Given the description of an element on the screen output the (x, y) to click on. 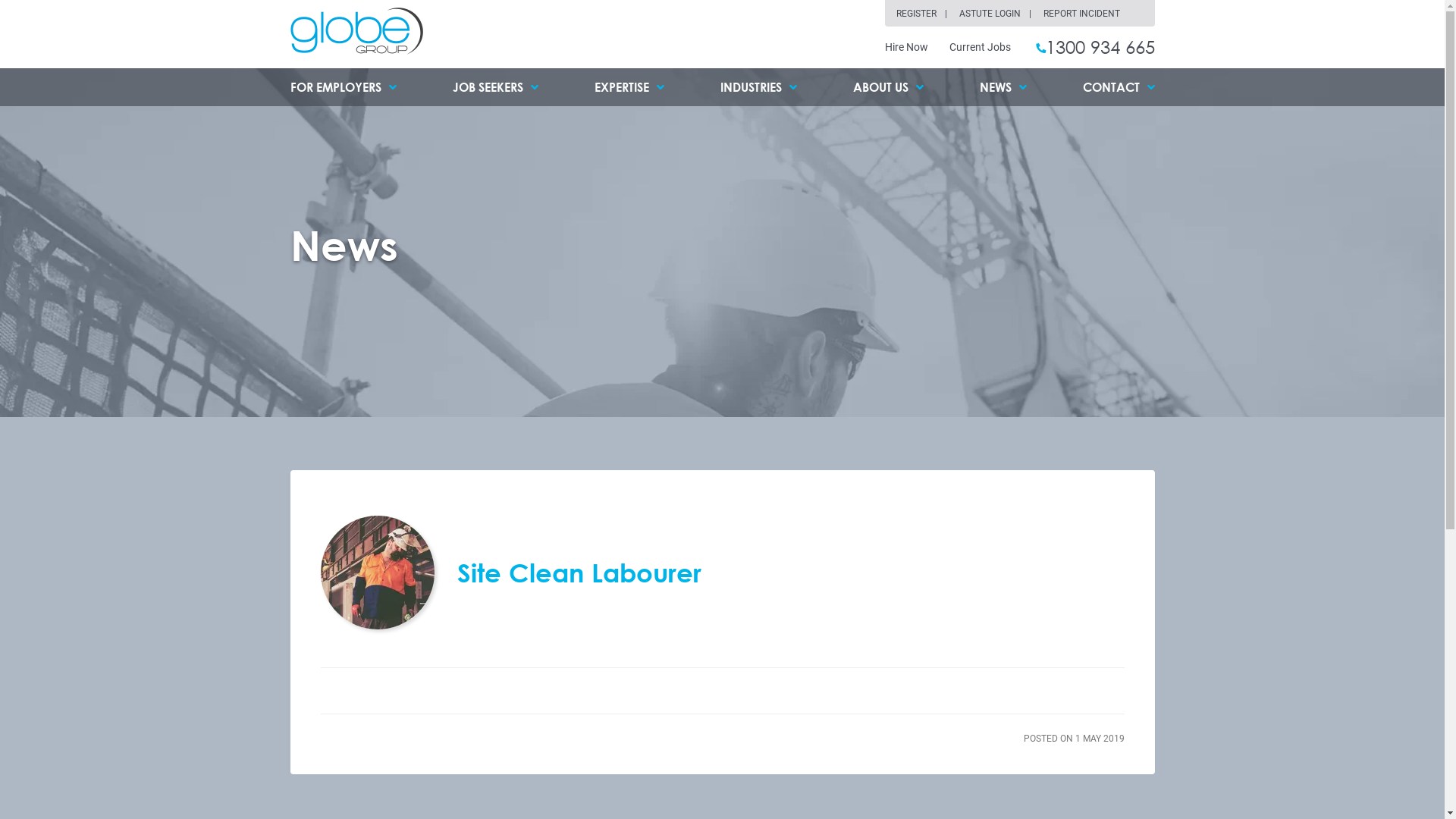
REGISTER Element type: text (926, 13)
EXPERTISE Element type: text (629, 87)
FOR EMPLOYERS Element type: text (342, 87)
REPORT INCIDENT Element type: text (1081, 13)
News Element type: text (343, 244)
INDUSTRIES Element type: text (758, 87)
JOB SEEKERS Element type: text (494, 87)
ABOUT US Element type: text (887, 87)
Hire Now Element type: text (905, 46)
NEWS Element type: text (1002, 87)
1300 934 665 Element type: text (1093, 46)
ASTUTE LOGIN Element type: text (998, 13)
CONTACT Element type: text (1118, 87)
Current Jobs Element type: text (979, 46)
